Given the description of an element on the screen output the (x, y) to click on. 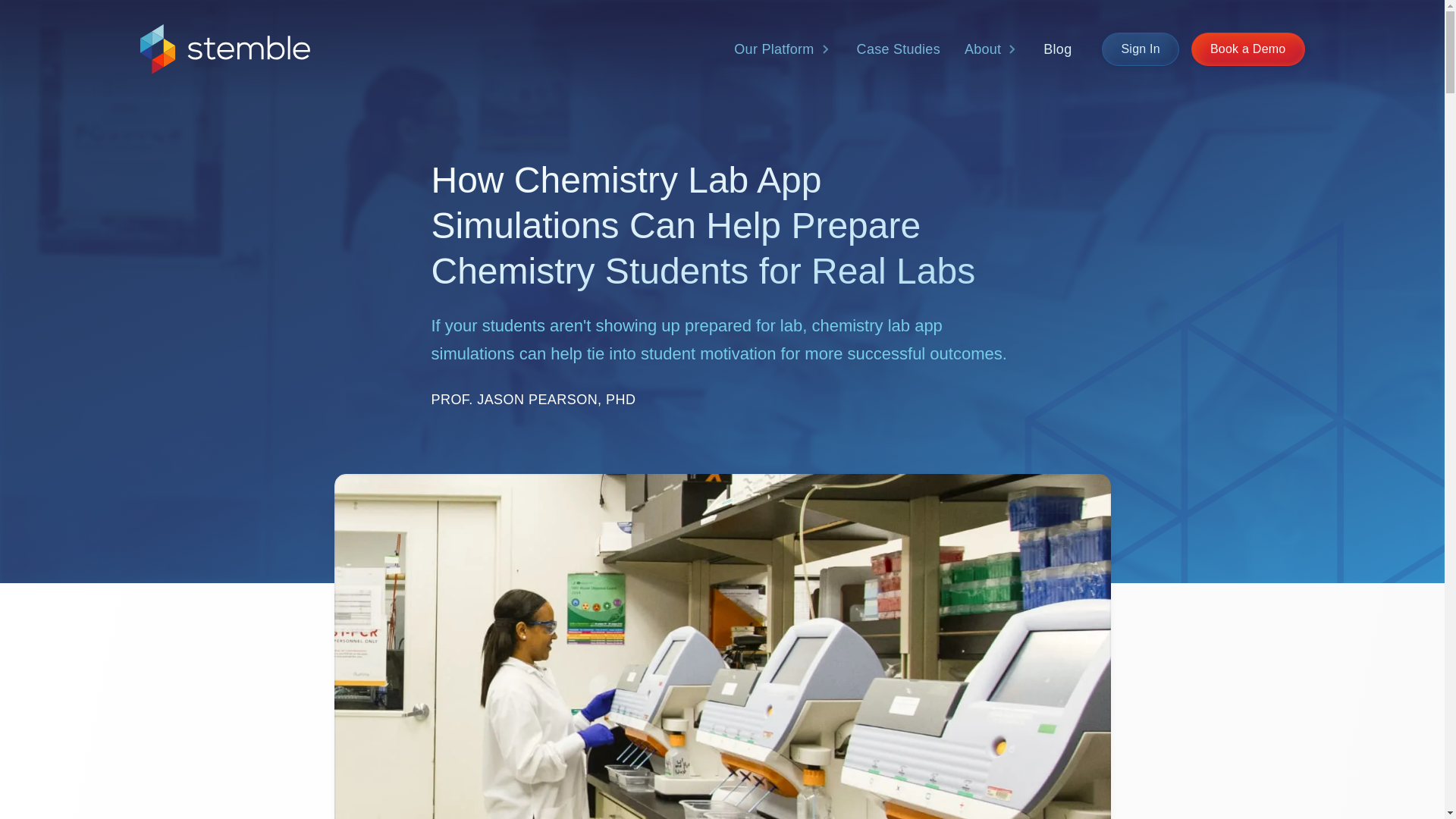
Book a Demo (1247, 49)
Sign In (1140, 49)
Blog (1056, 49)
Case Studies (898, 49)
